Given the description of an element on the screen output the (x, y) to click on. 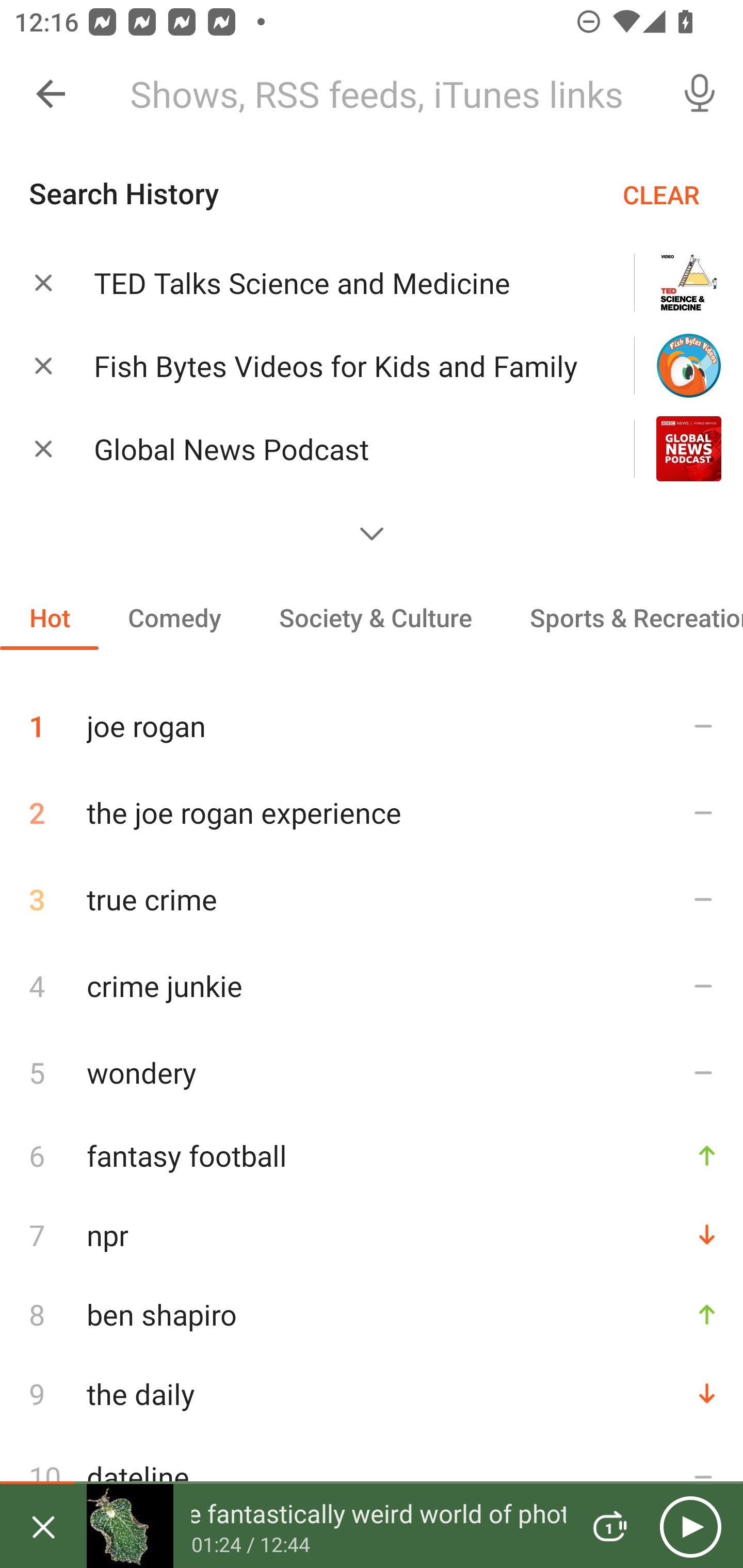
Collapse (50, 93)
Voice Search (699, 93)
Shows, RSS feeds, iTunes links (385, 94)
CLEAR (660, 194)
TED Talks Science and Medicine (338, 282)
 Clear (43, 282)
Fish Bytes Videos for Kids and Family (338, 365)
 Clear (43, 365)
Global News Podcast (338, 448)
 Clear (43, 448)
 (371, 533)
Hot (49, 616)
Comedy (173, 616)
Society & Culture (374, 616)
Sports & Recreation (621, 616)
1 joe rogan (371, 717)
2 the joe rogan experience (371, 812)
3 true crime (371, 899)
4 crime junkie (371, 985)
5 wondery (371, 1072)
6 fantasy football (371, 1155)
7 npr (371, 1234)
8 ben shapiro (371, 1313)
9 the daily (371, 1393)
Play (690, 1526)
